Given the description of an element on the screen output the (x, y) to click on. 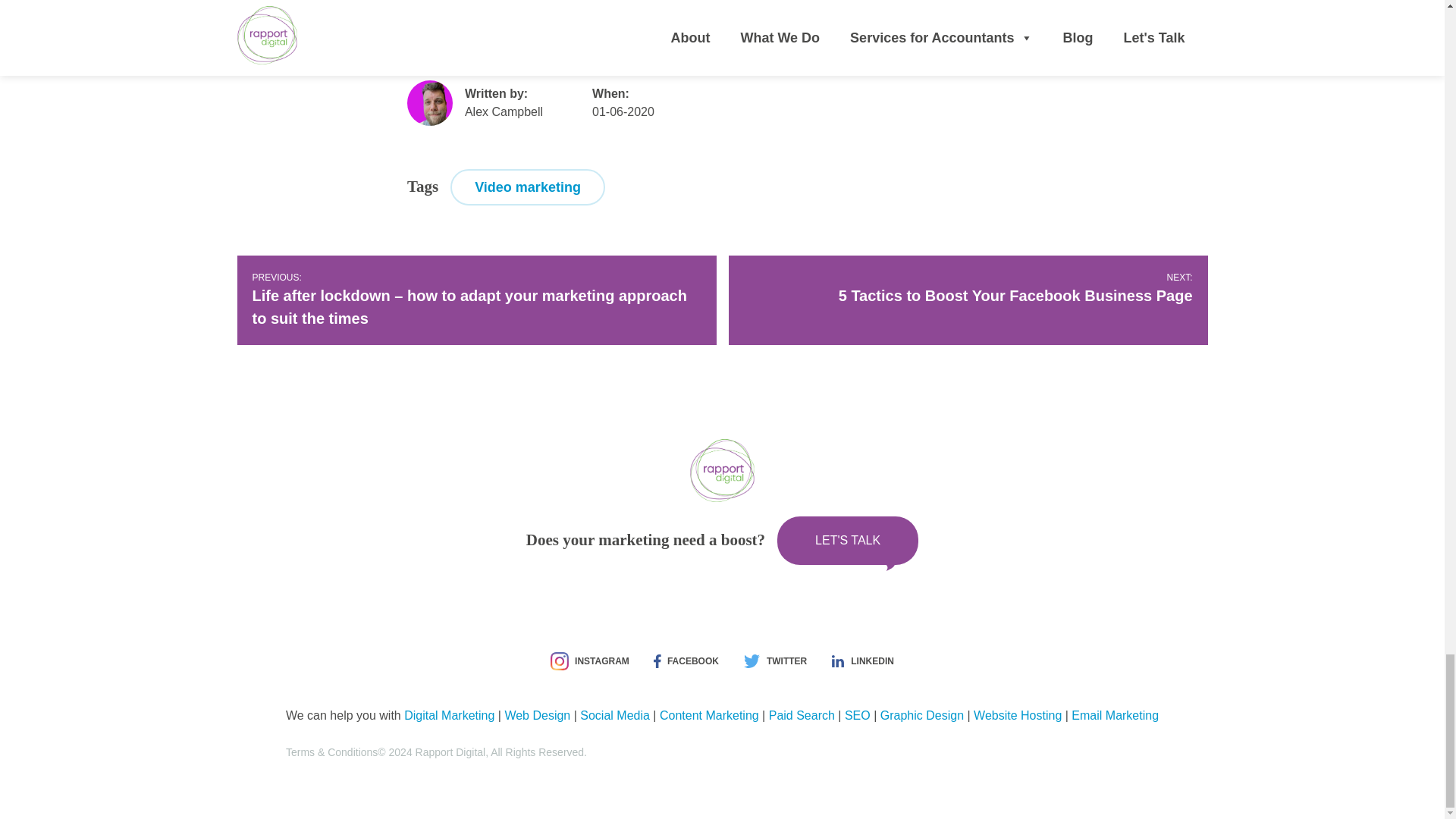
Video marketing (967, 289)
SEO (527, 186)
Digital Marketing (857, 715)
Paid Search (449, 715)
Website Hosting (801, 715)
INSTAGRAM (1017, 715)
Social Media (589, 660)
Graphic Design (614, 715)
Web Design (921, 715)
